Given the description of an element on the screen output the (x, y) to click on. 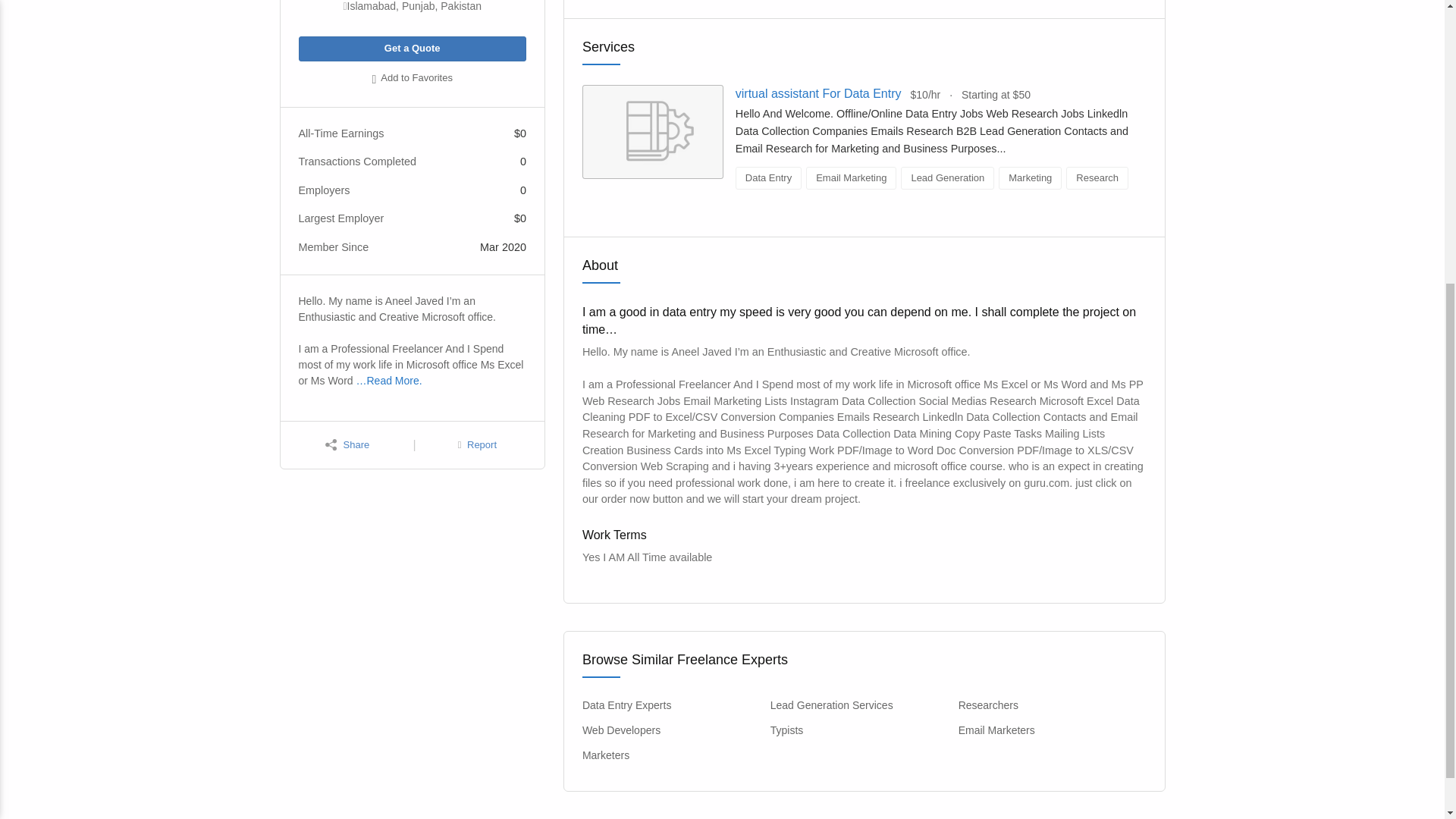
Report (477, 445)
Add to Favorites (411, 79)
Get a Quote (411, 48)
Share (347, 445)
